Given the description of an element on the screen output the (x, y) to click on. 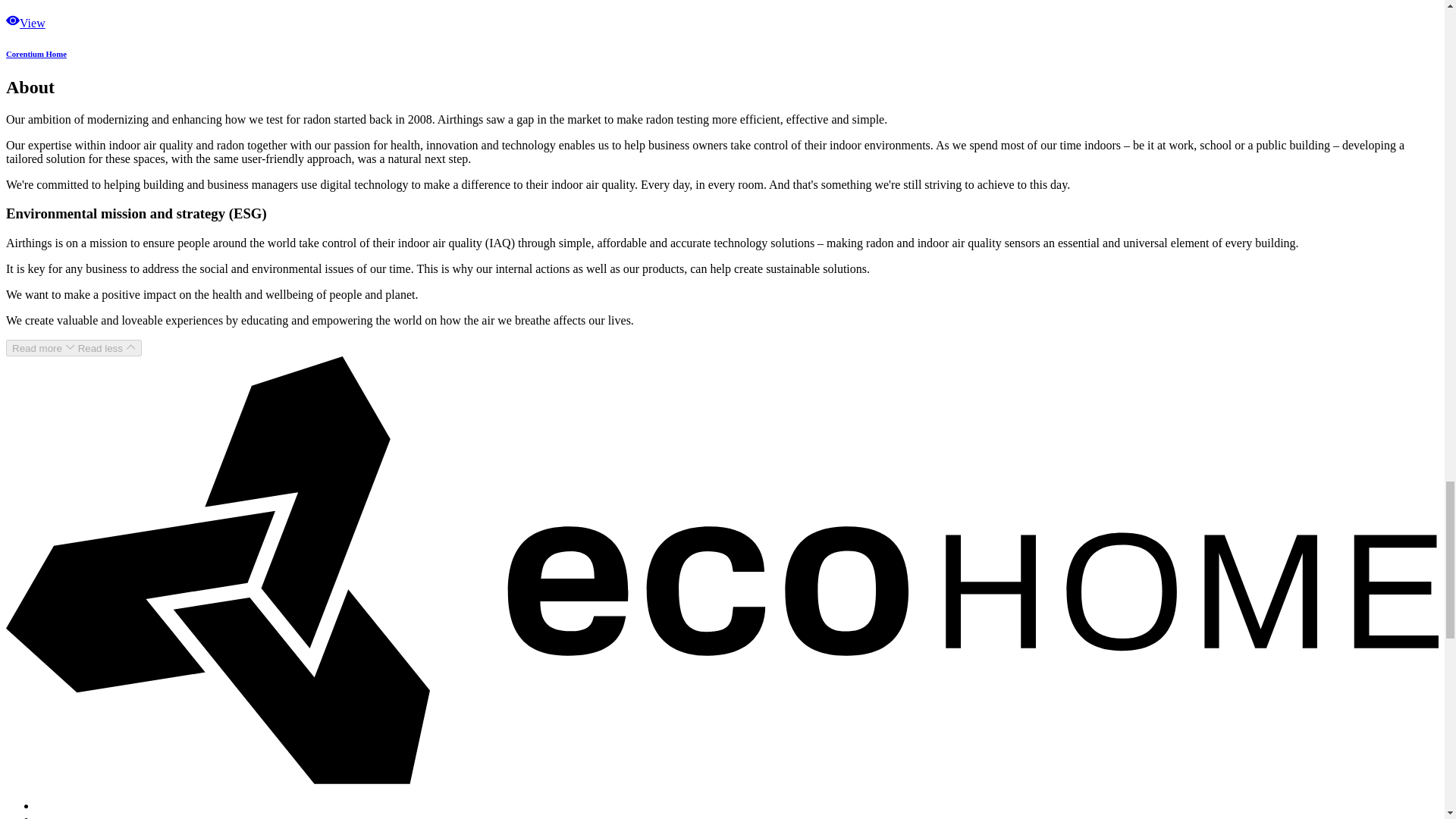
Electronic Radon Detector - Corentium Home - Airthings (35, 53)
Electronic Radon Detector - Corentium Home - Airthings (25, 22)
